Given the description of an element on the screen output the (x, y) to click on. 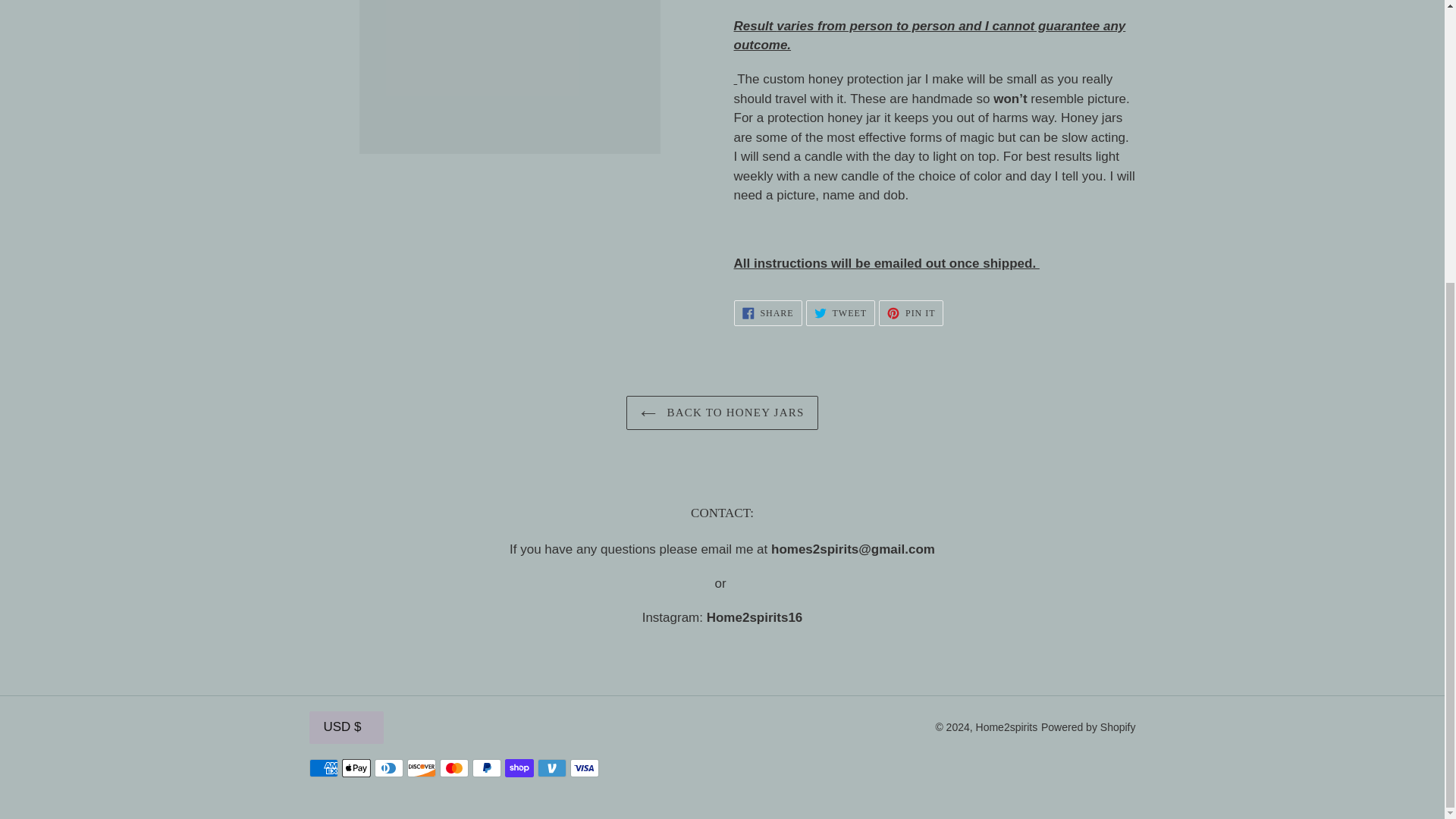
BACK TO HONEY JARS (840, 312)
